Given the description of an element on the screen output the (x, y) to click on. 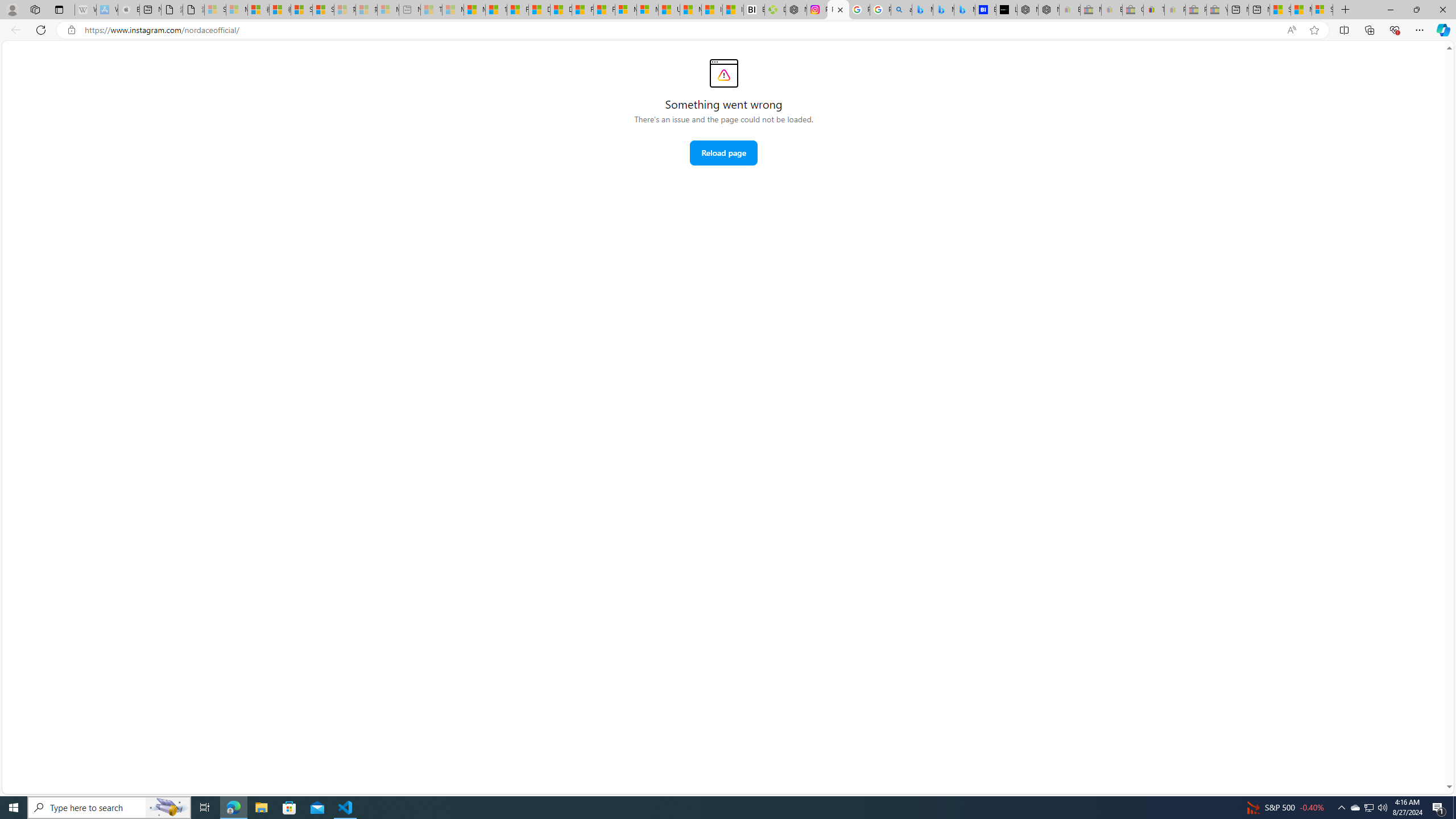
Marine life - MSN - Sleeping (452, 9)
Microsoft Bing Travel - Shangri-La Hotel Bangkok (964, 9)
Buy iPad - Apple - Sleeping (128, 9)
Microsoft Services Agreement - Sleeping (236, 9)
